Given the description of an element on the screen output the (x, y) to click on. 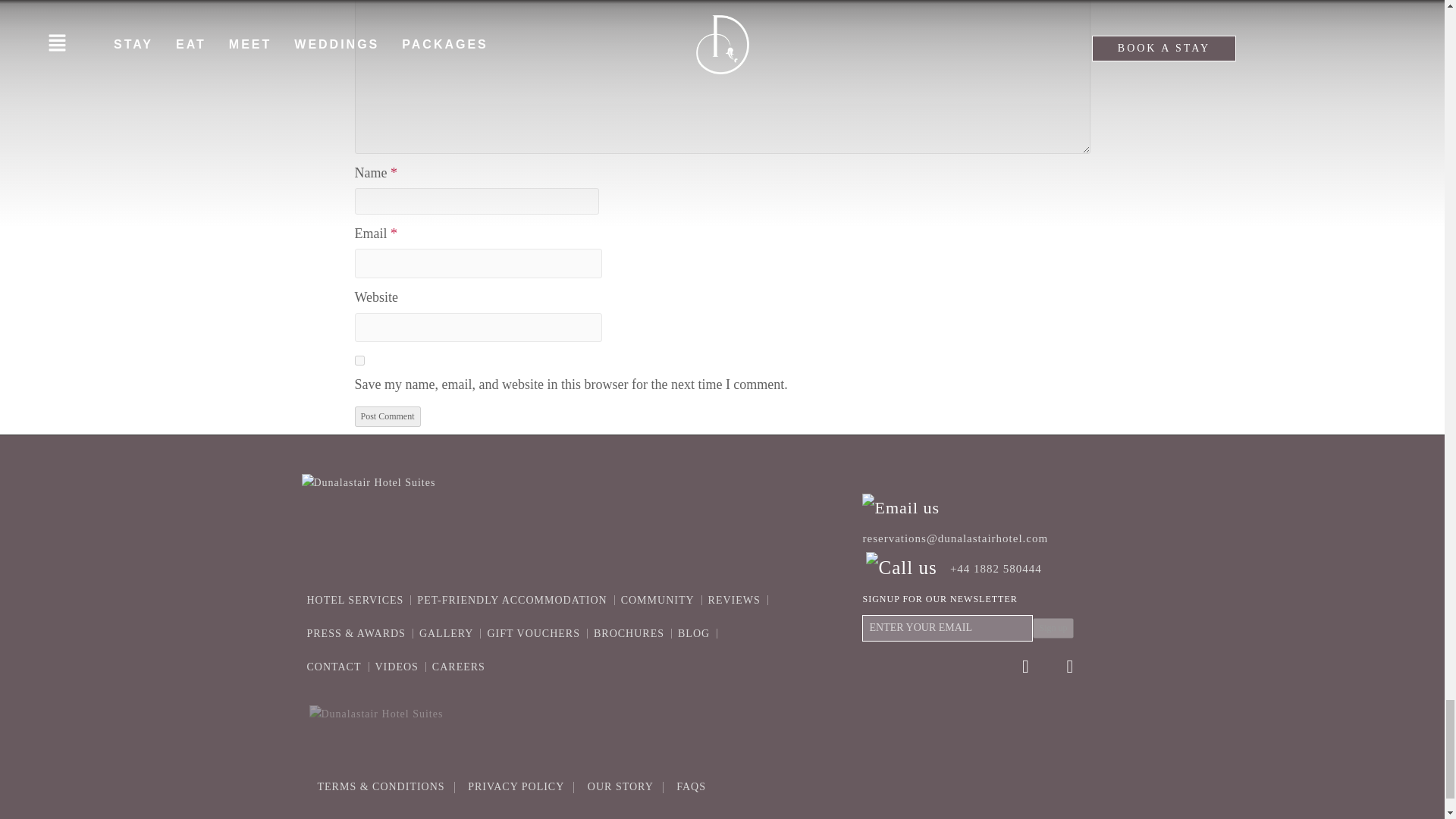
yes (360, 360)
Sign up (1052, 628)
Post Comment (387, 415)
